Given the description of an element on the screen output the (x, y) to click on. 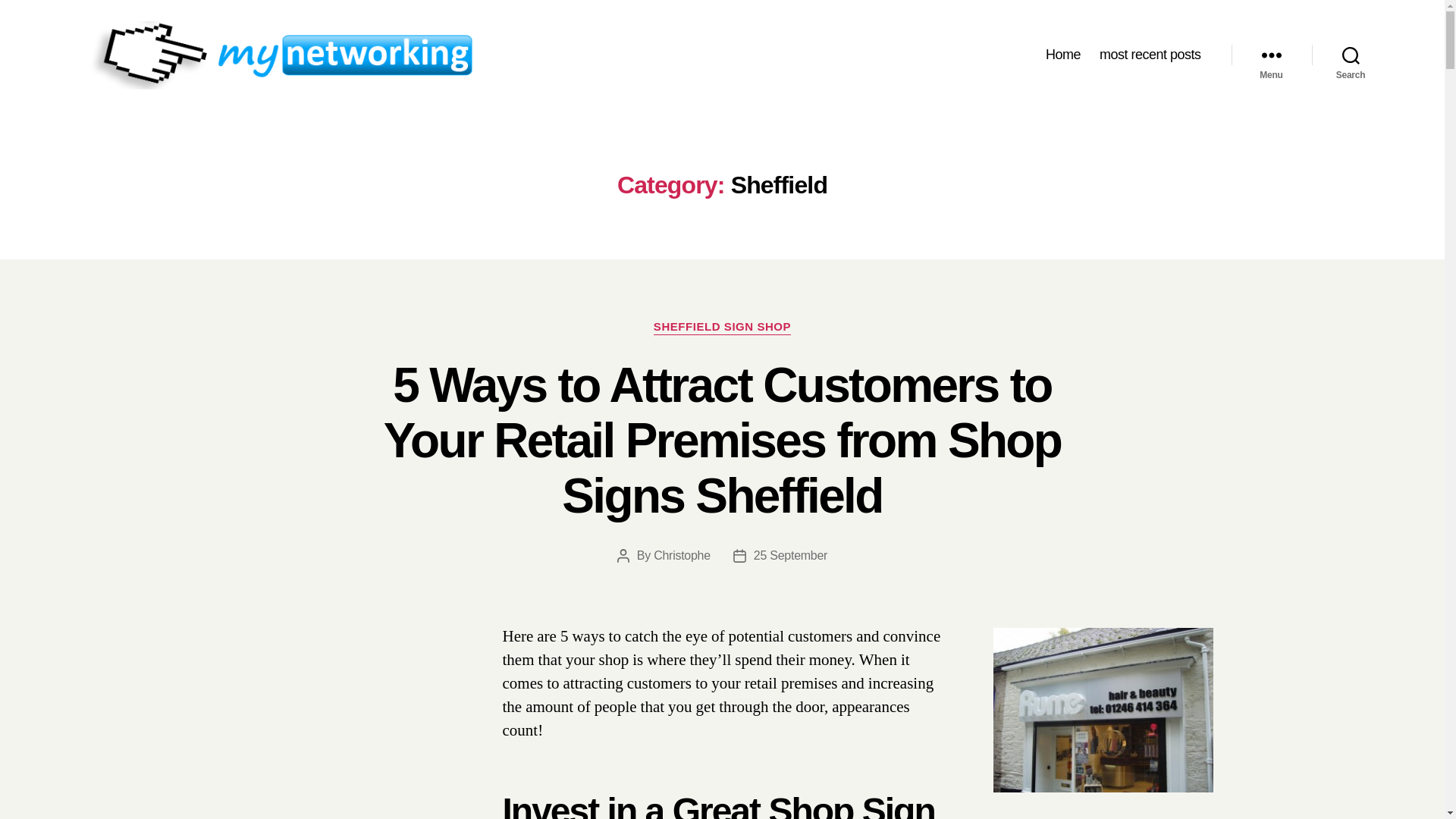
SHEFFIELD SIGN SHOP (721, 327)
Christophe (681, 554)
25 September (790, 554)
Menu (1271, 55)
Home (1062, 54)
most recent posts (1150, 54)
Search (1350, 55)
